Given the description of an element on the screen output the (x, y) to click on. 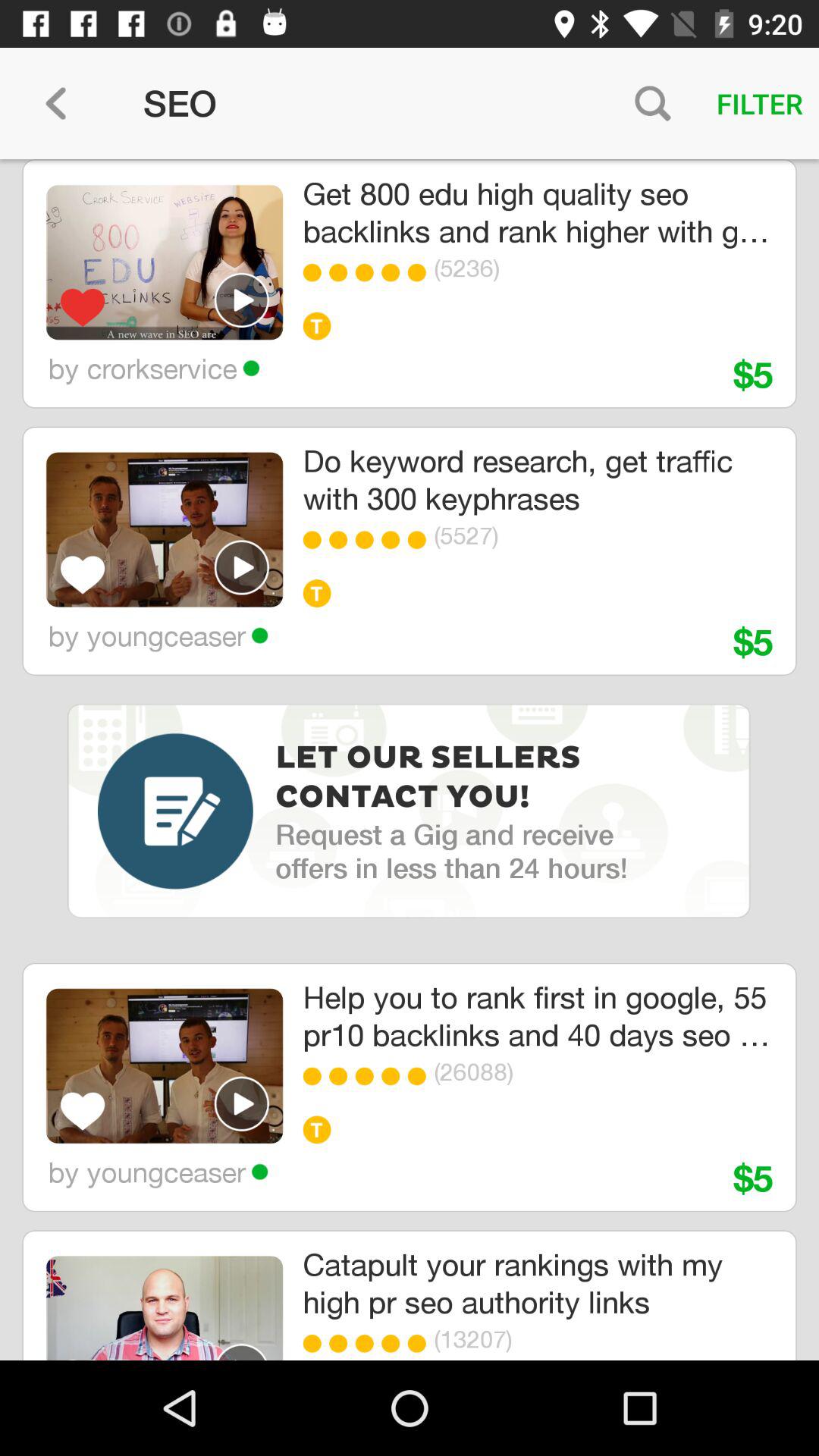
swipe to the (13207) icon (579, 1339)
